Given the description of an element on the screen output the (x, y) to click on. 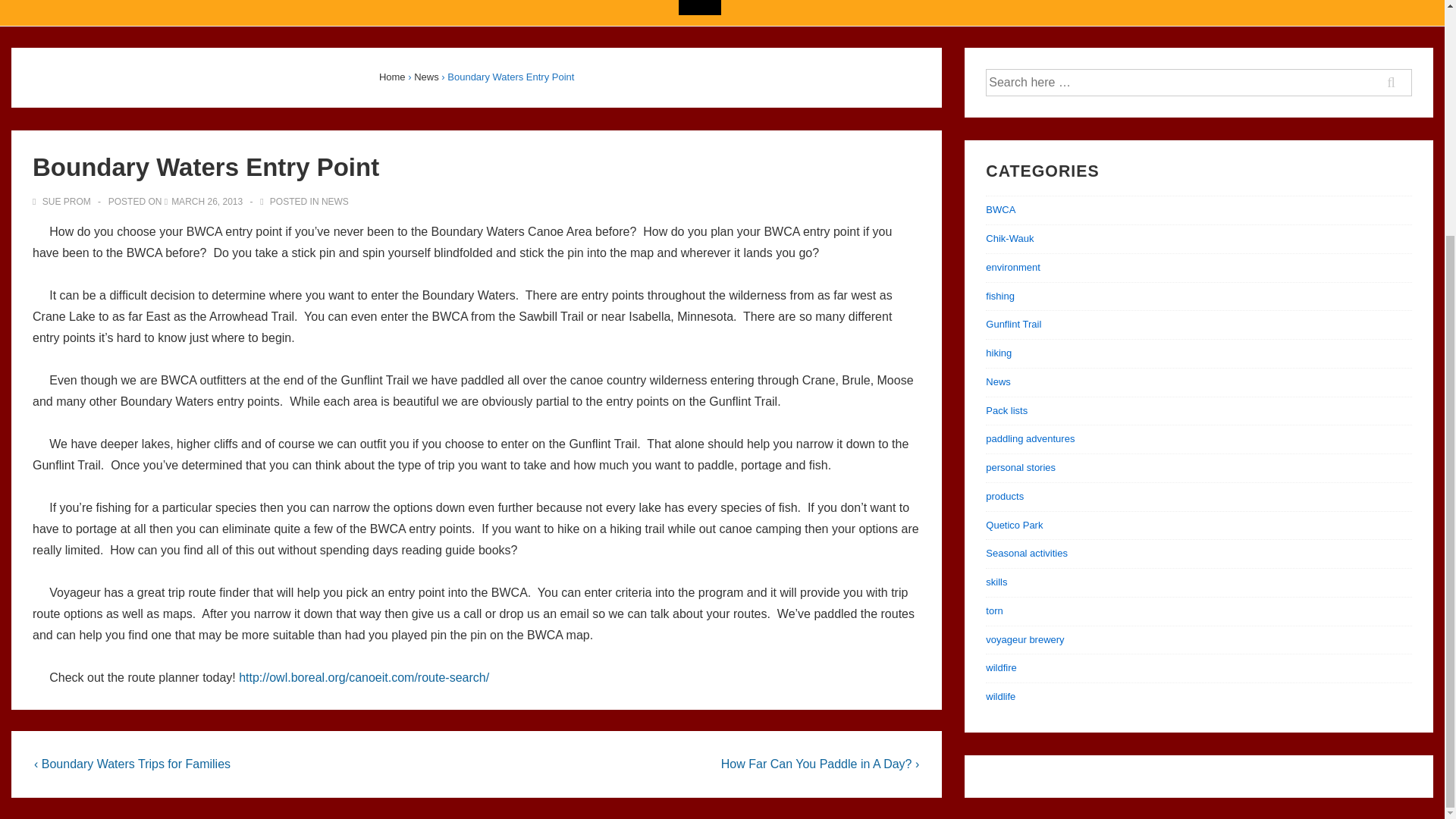
NEWS (335, 201)
Chik-Wauk (1009, 238)
Quetico Park (1013, 524)
Home (392, 76)
Gunflint Trail (1013, 324)
Boundary Waters Entry Point (207, 201)
paddling adventures (1029, 438)
products (1004, 496)
skills (996, 582)
Pack lists (1006, 410)
